Given the description of an element on the screen output the (x, y) to click on. 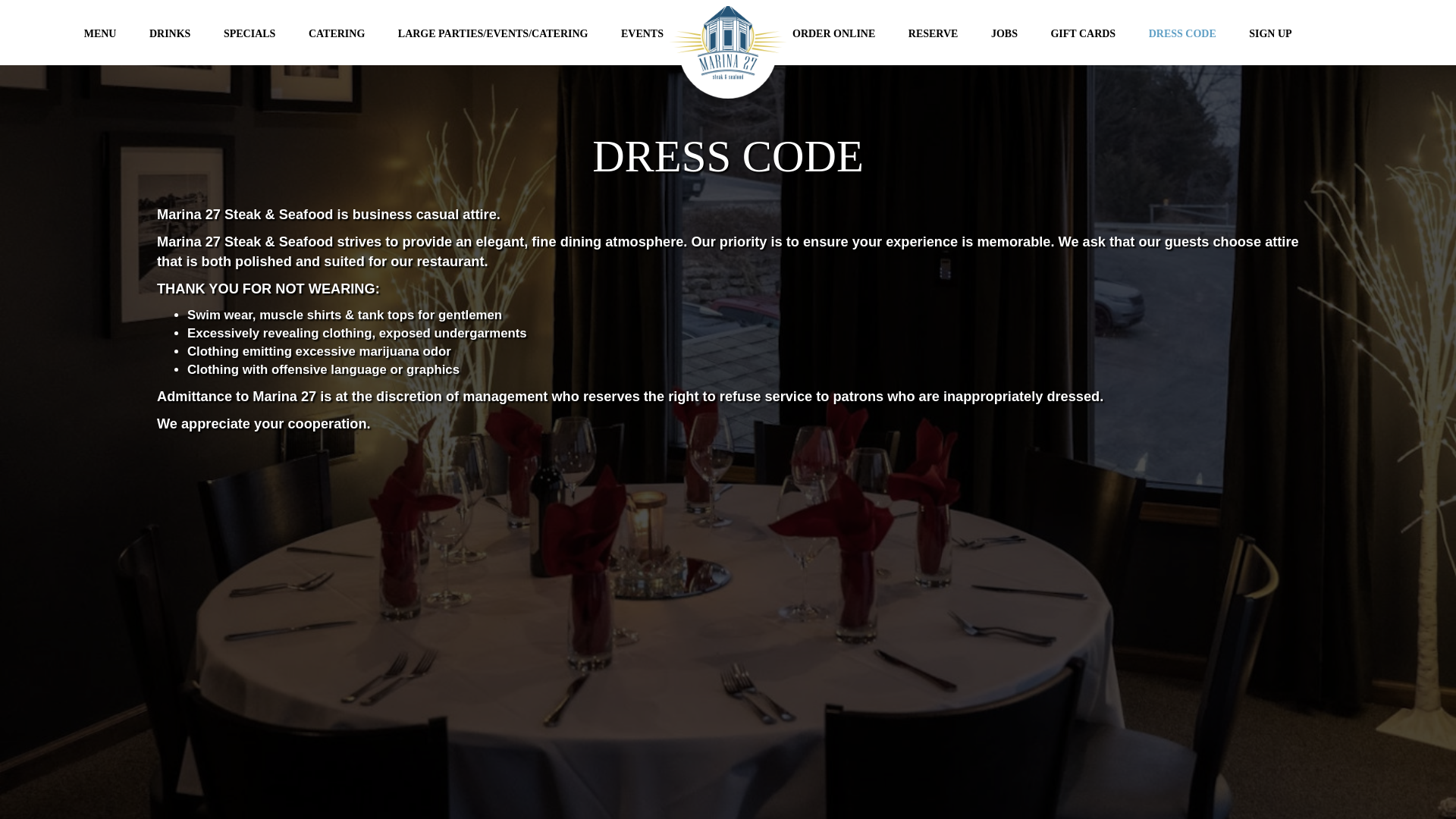
EVENTS (641, 33)
MENU (100, 33)
DRINKS (170, 33)
GIFT CARDS (1083, 33)
JOBS (1005, 33)
DRESS CODE (1184, 33)
SIGN UP (1269, 33)
SPECIALS (251, 33)
CATERING (338, 33)
ORDER ONLINE (835, 33)
